Given the description of an element on the screen output the (x, y) to click on. 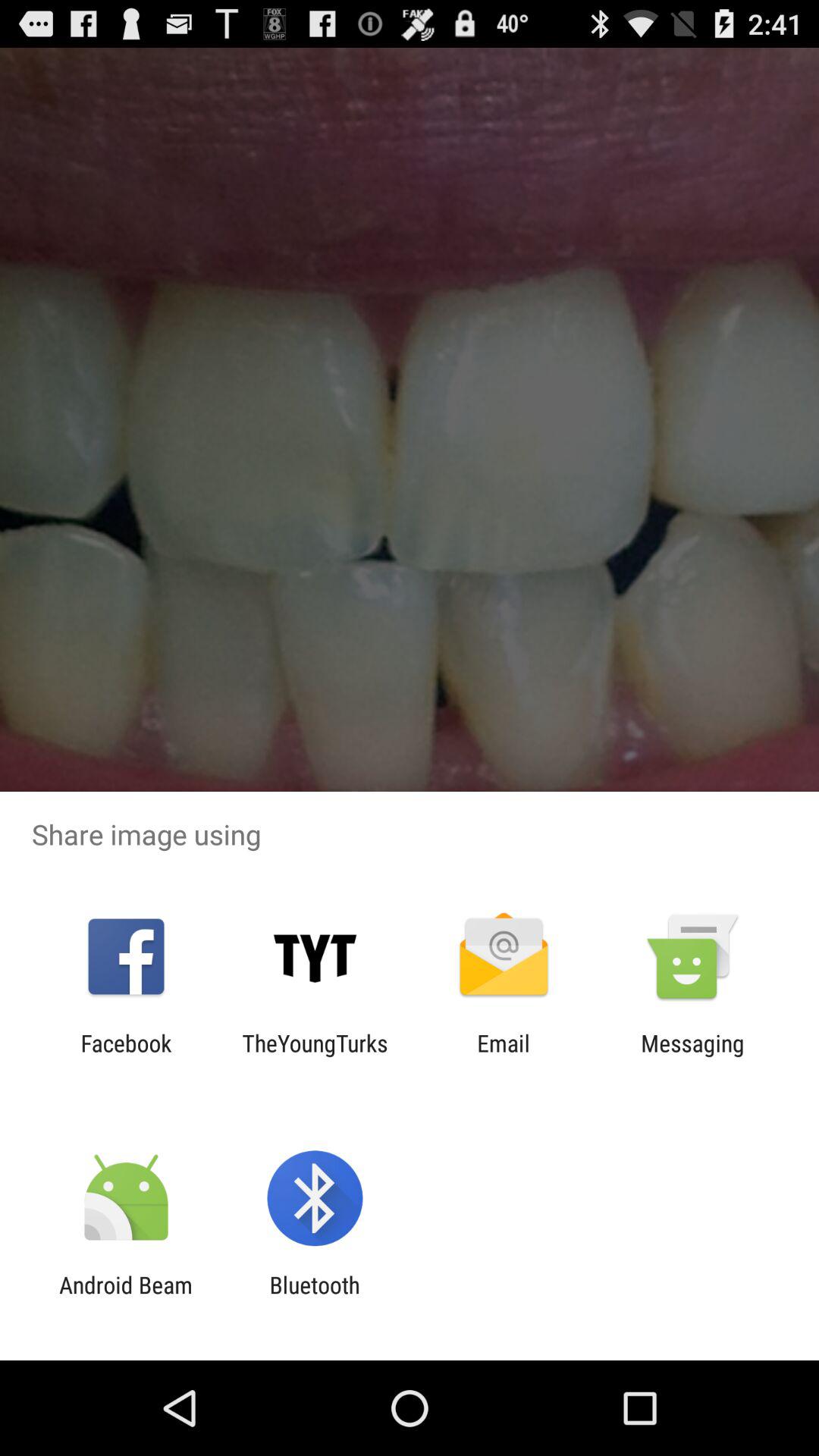
open the theyoungturks item (314, 1056)
